Given the description of an element on the screen output the (x, y) to click on. 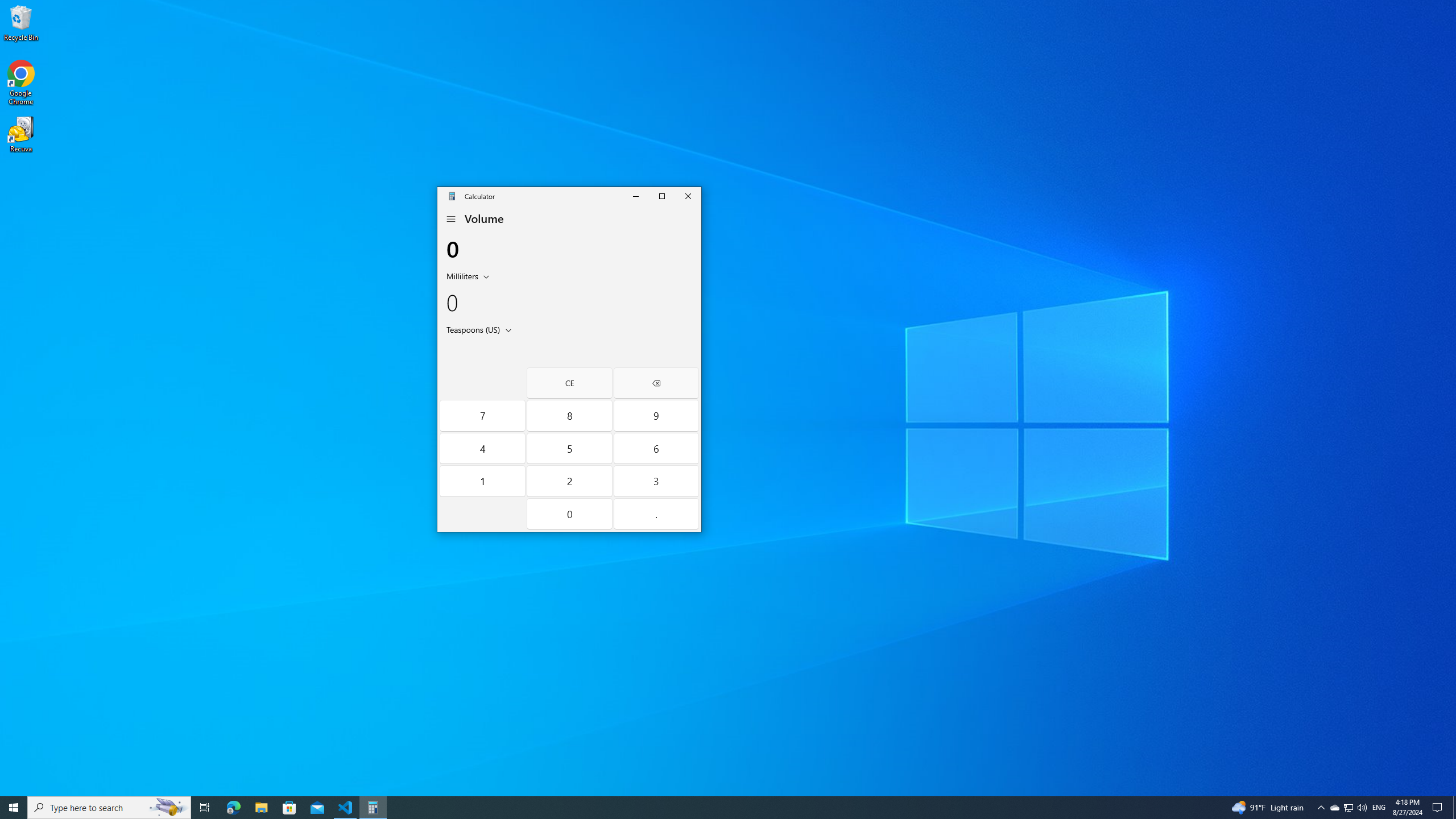
Input unit (470, 275)
One (482, 481)
Six (655, 448)
Milliliters (461, 275)
Decimal separator (655, 513)
